Given the description of an element on the screen output the (x, y) to click on. 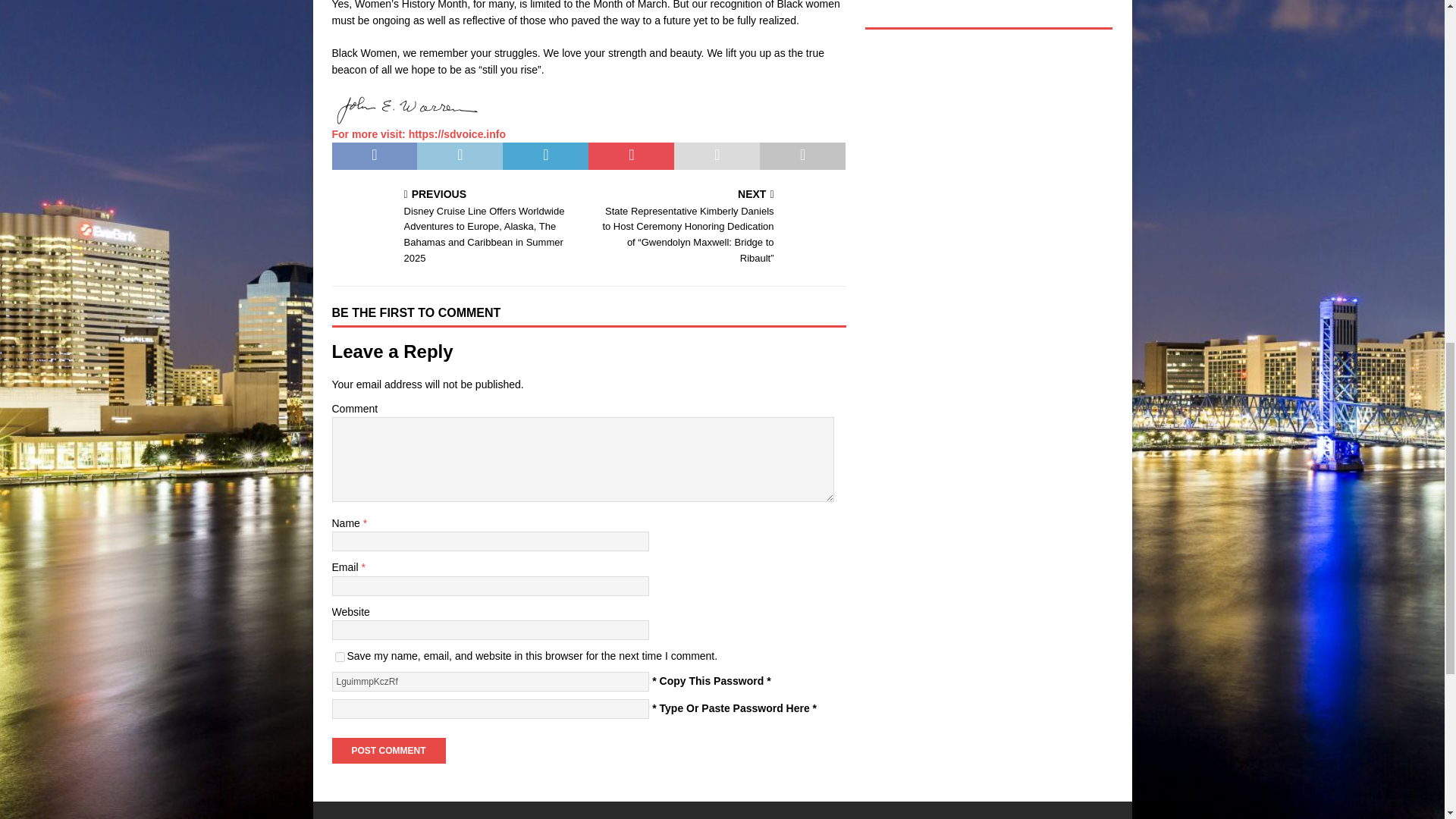
Post Comment (388, 750)
yes (339, 656)
LguimmpKczRf (490, 681)
